Given the description of an element on the screen output the (x, y) to click on. 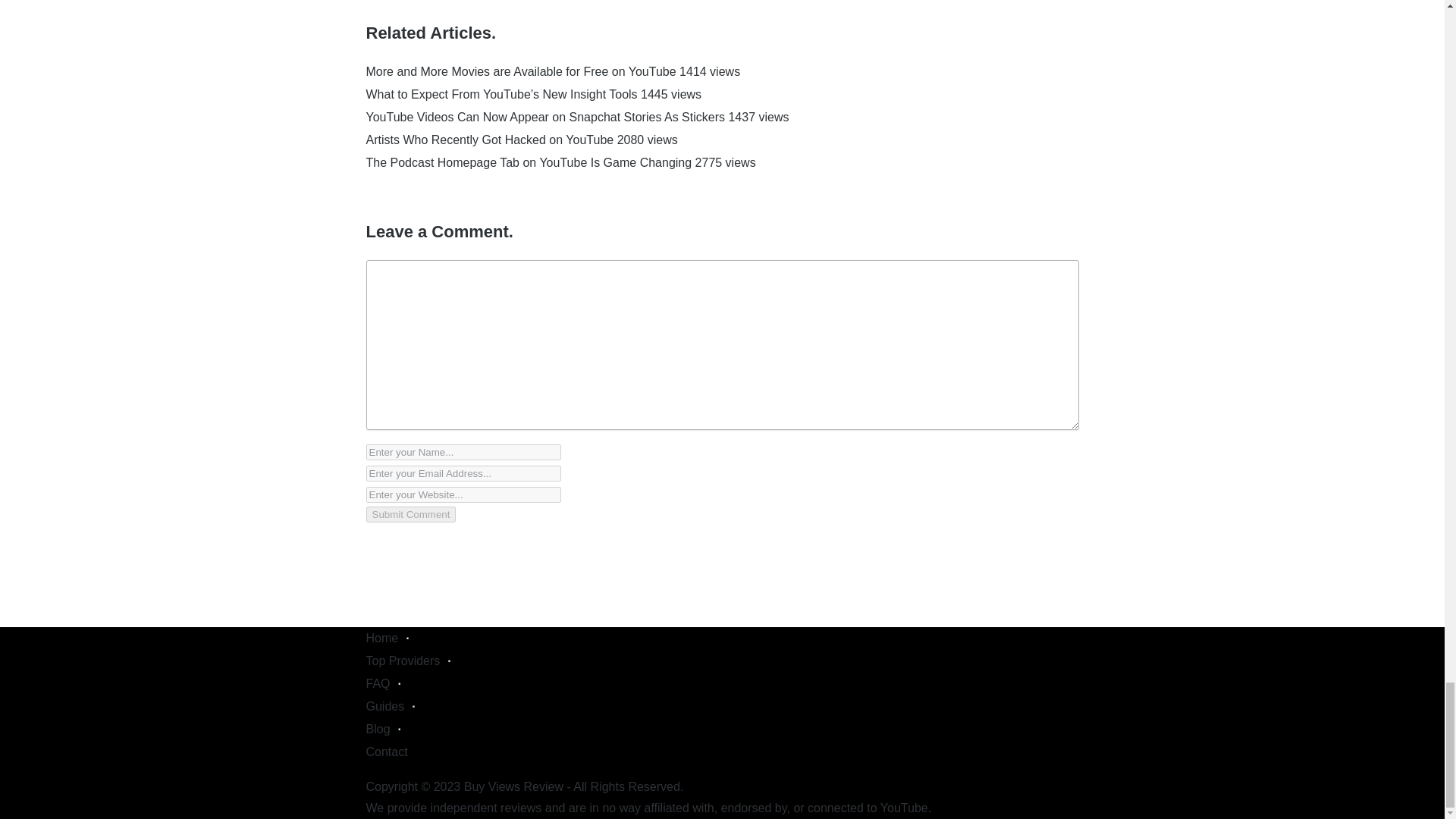
Submit Comment (410, 514)
Home (381, 637)
The Podcast Homepage Tab on YouTube Is Game Changing (528, 162)
Top Providers (402, 660)
Blog (377, 728)
Contact (386, 751)
FAQ (377, 683)
Artists Who Recently Got Hacked on YouTube (488, 139)
Guides (384, 706)
Submit Comment (410, 514)
Permalink to Artists Who Recently Got Hacked on YouTube (488, 139)
Buy Views Review (513, 786)
